Given the description of an element on the screen output the (x, y) to click on. 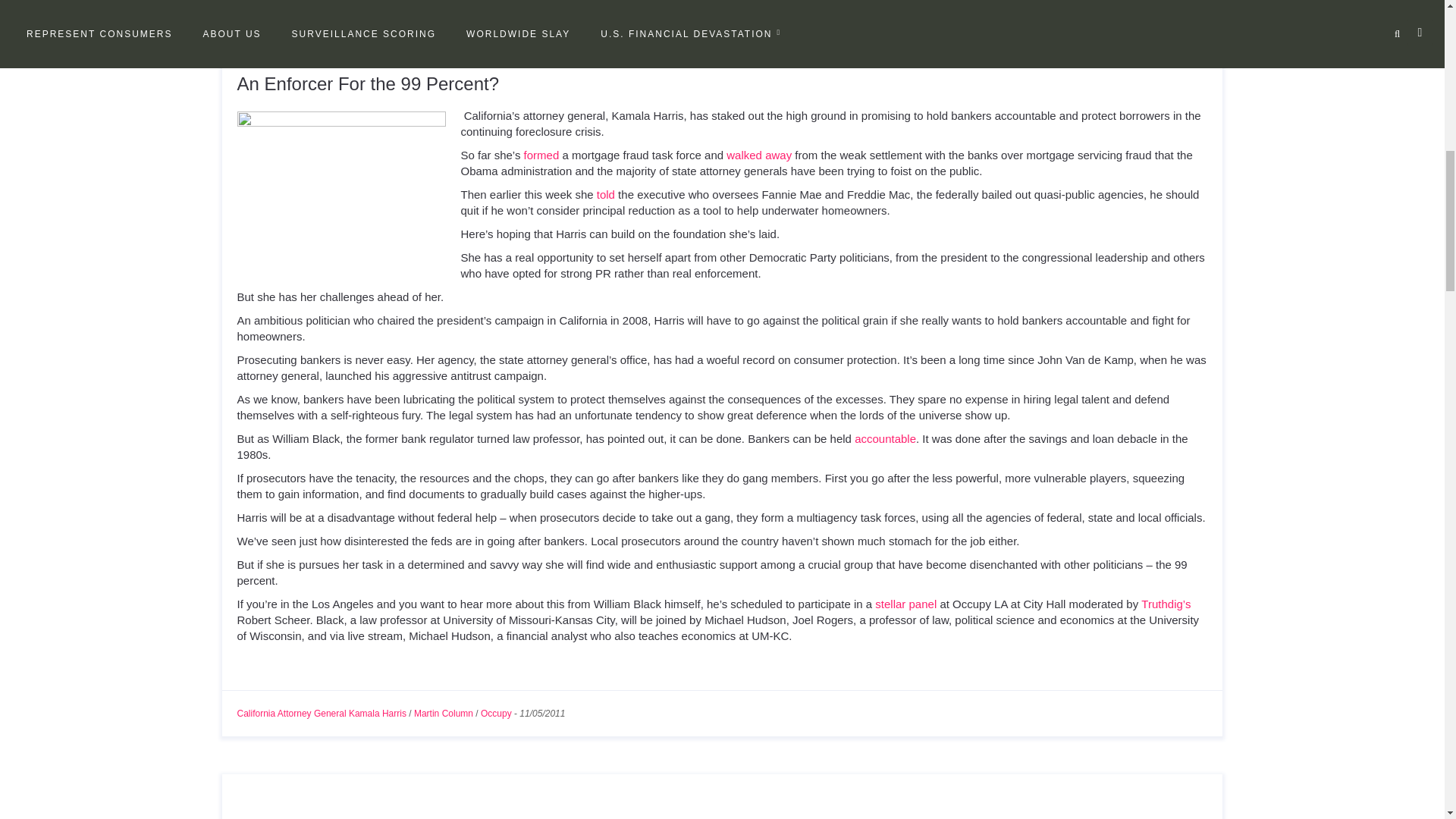
Martin Column (443, 713)
An Enforcer For the 99 Percent? (367, 83)
images (340, 180)
The Never-Ending Bailout (340, 817)
walked away (759, 154)
told (605, 194)
stellar panel (905, 603)
Occupy (496, 713)
formed (541, 154)
California Attorney General Kamala Harris (320, 713)
accountable (884, 438)
